Given the description of an element on the screen output the (x, y) to click on. 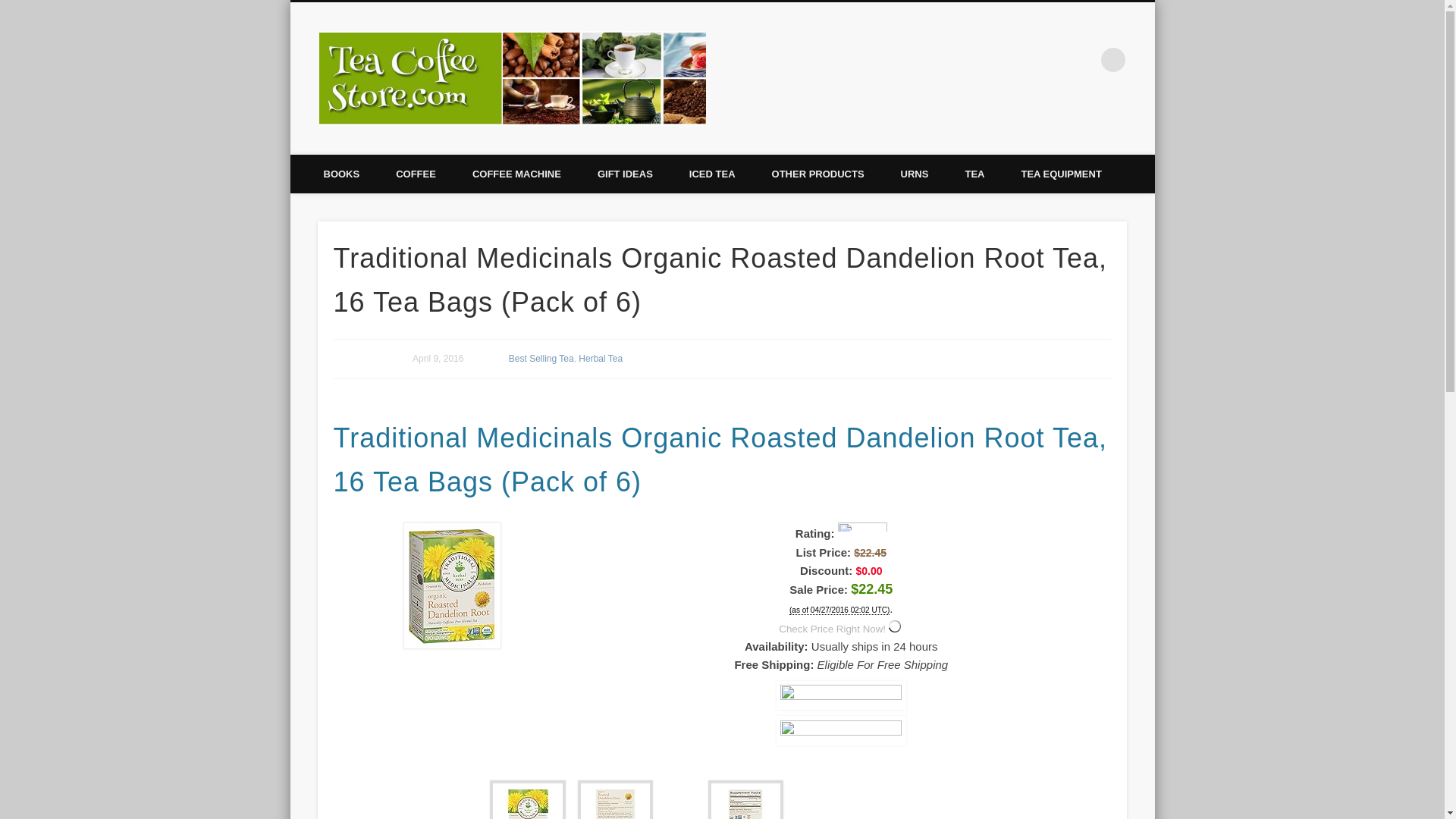
ICED TEA (712, 173)
TEA (974, 173)
OTHER PRODUCTS (818, 173)
COFFEE MACHINE (516, 173)
Search (11, 7)
URNS (914, 173)
BOOKS (340, 173)
GIFT IDEAS (625, 173)
COFFEE (415, 173)
Tea Coffee Store (802, 59)
